Given the description of an element on the screen output the (x, y) to click on. 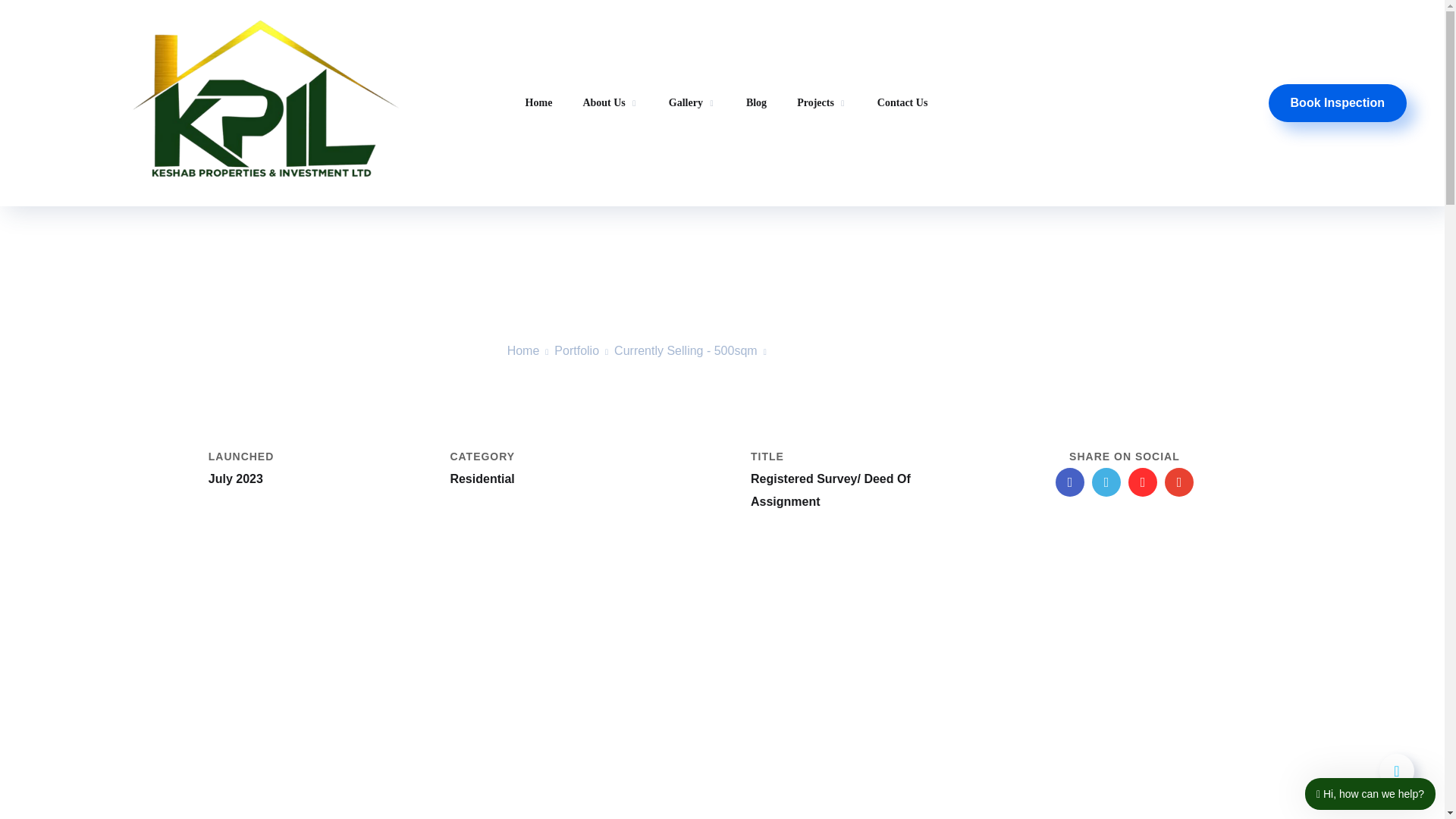
About Us (609, 105)
Gallery (692, 102)
Book Inspection (1337, 103)
Portfolio (576, 350)
Projects (821, 102)
Home (523, 350)
Currently Selling - 500sqm (685, 350)
Contact Us (902, 102)
